Given the description of an element on the screen output the (x, y) to click on. 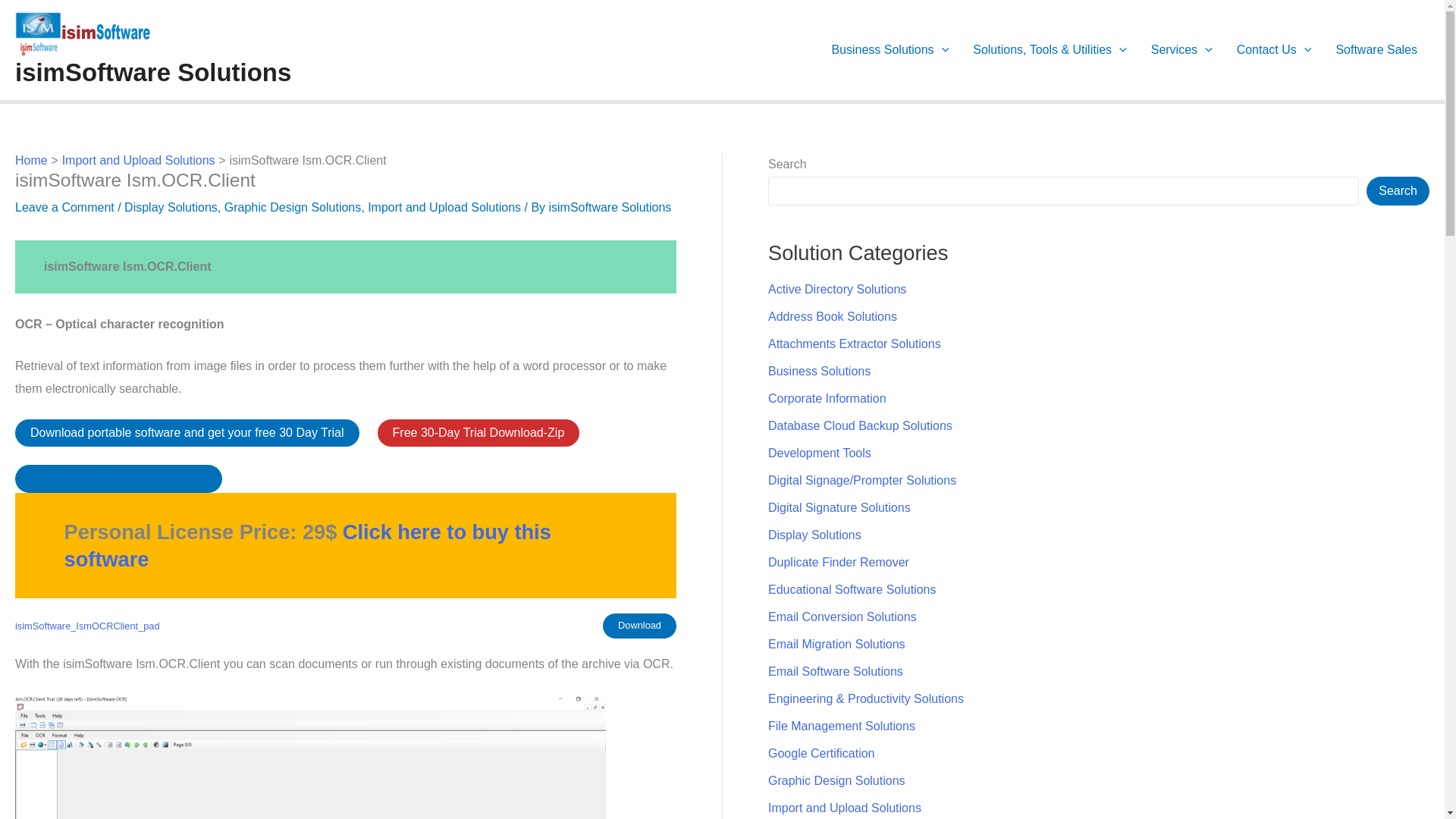
isimSoftware Solutions (152, 72)
Contact Us (1273, 49)
Services (1181, 49)
Business Solutions (889, 49)
View all posts by isimSoftware Solutions (609, 206)
